Given the description of an element on the screen output the (x, y) to click on. 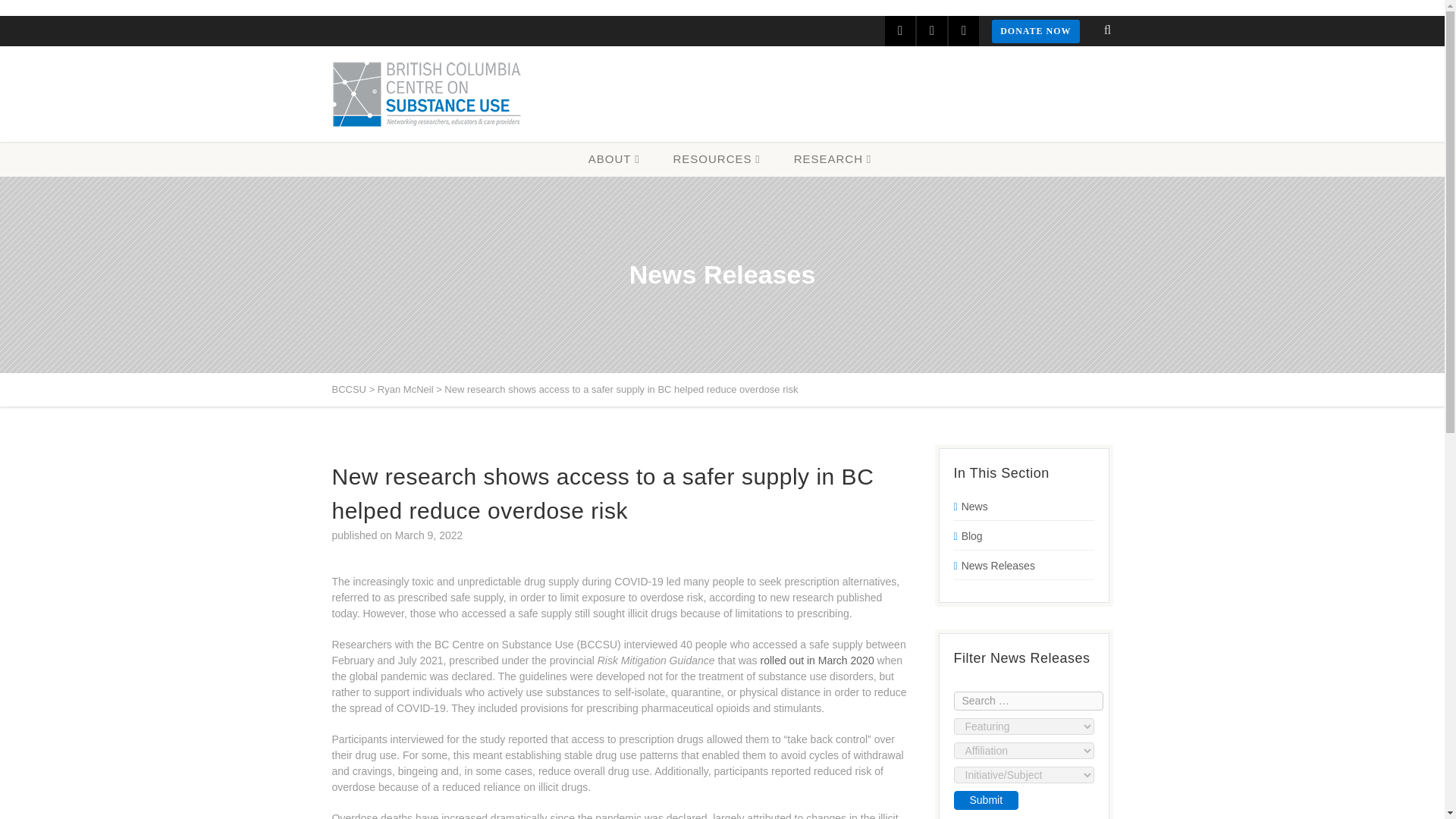
RESOURCES (716, 158)
Go to BCCSU. (348, 389)
Submit (986, 799)
DONATE NOW (1034, 31)
78177,78183 (49, 200)
Go to the Ryan McNeil Author Tag archives. (405, 389)
BCCSU (426, 93)
ABOUT (614, 158)
RESEARCH (832, 158)
